Given the description of an element on the screen output the (x, y) to click on. 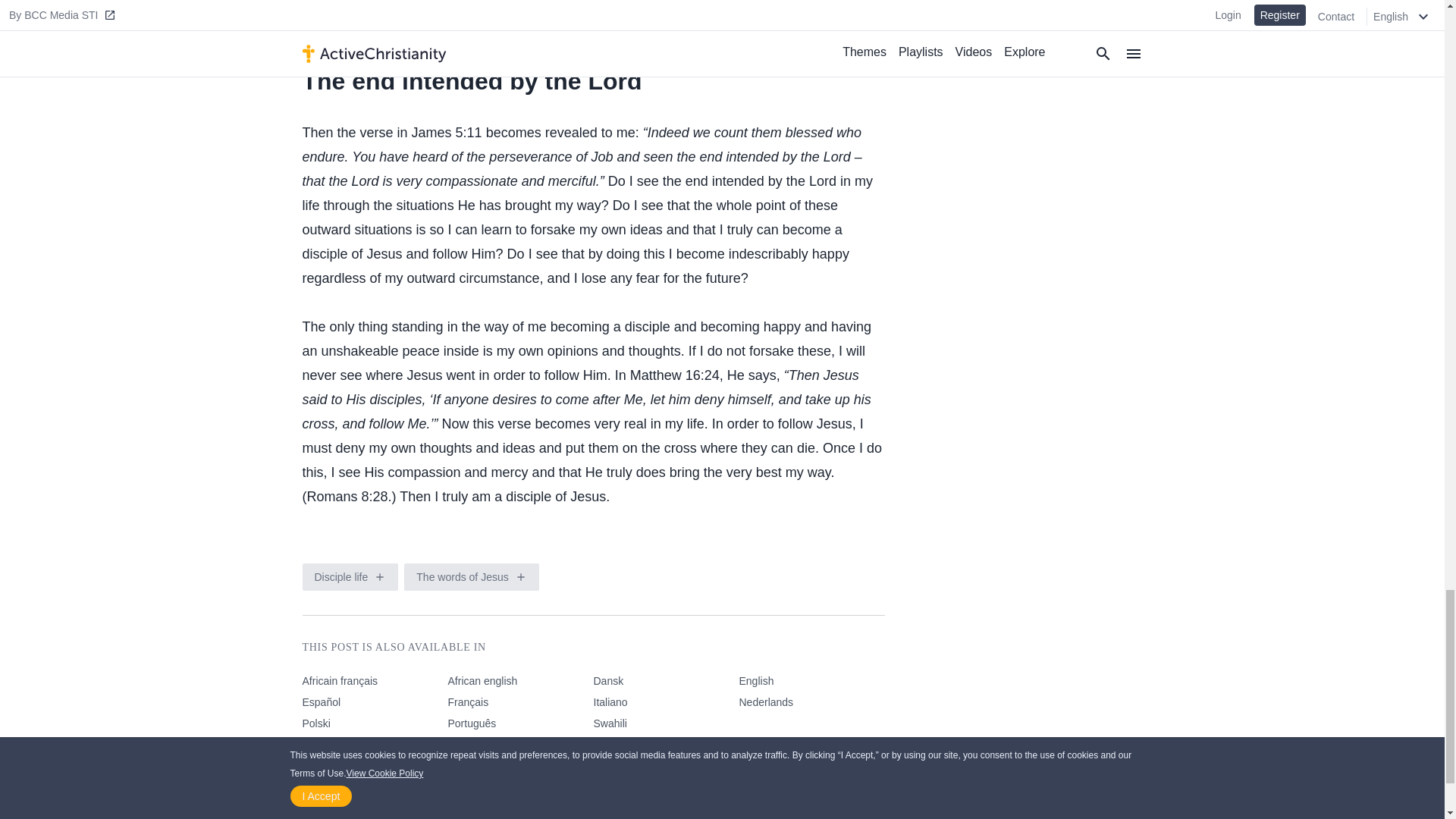
Disciple life (344, 576)
Dansk (665, 683)
English (810, 683)
The words of Jesus (464, 576)
Italiano (665, 704)
African english (519, 683)
Nederlands (810, 704)
